Given the description of an element on the screen output the (x, y) to click on. 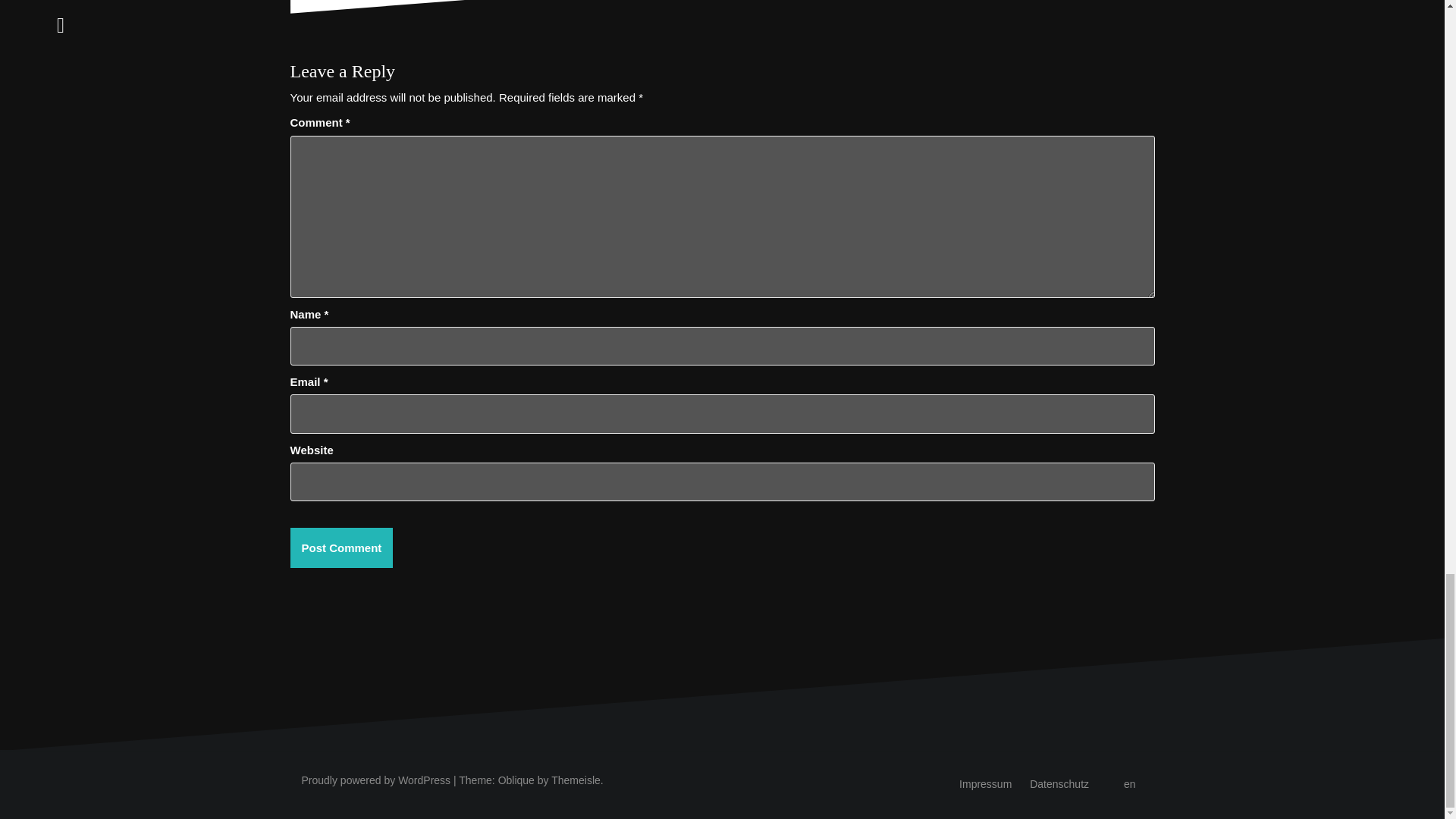
Post Comment (341, 547)
Post Comment (341, 547)
